Given the description of an element on the screen output the (x, y) to click on. 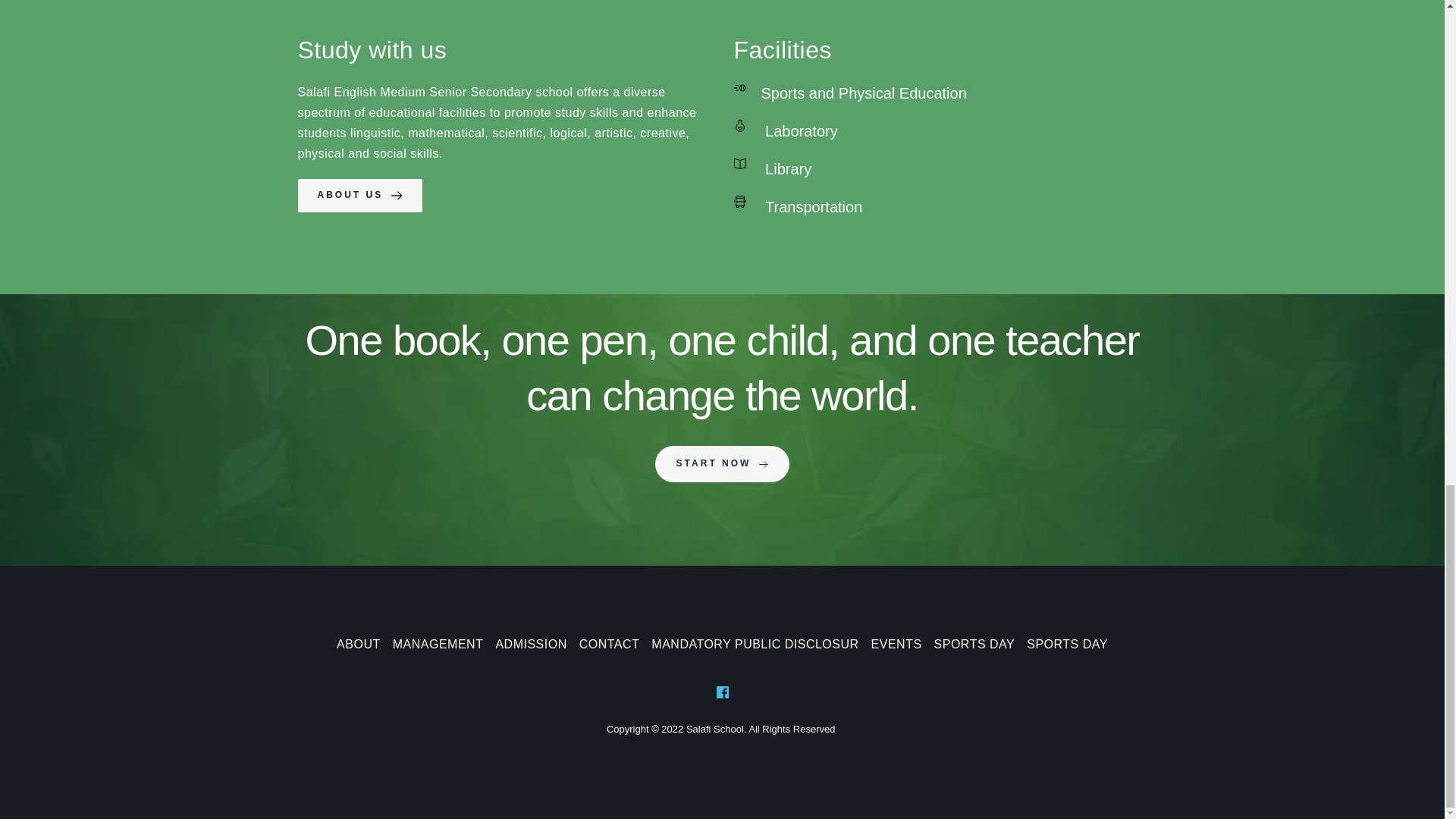
START NOW (722, 463)
ABOUT US (359, 195)
ABOUT (358, 643)
